Given the description of an element on the screen output the (x, y) to click on. 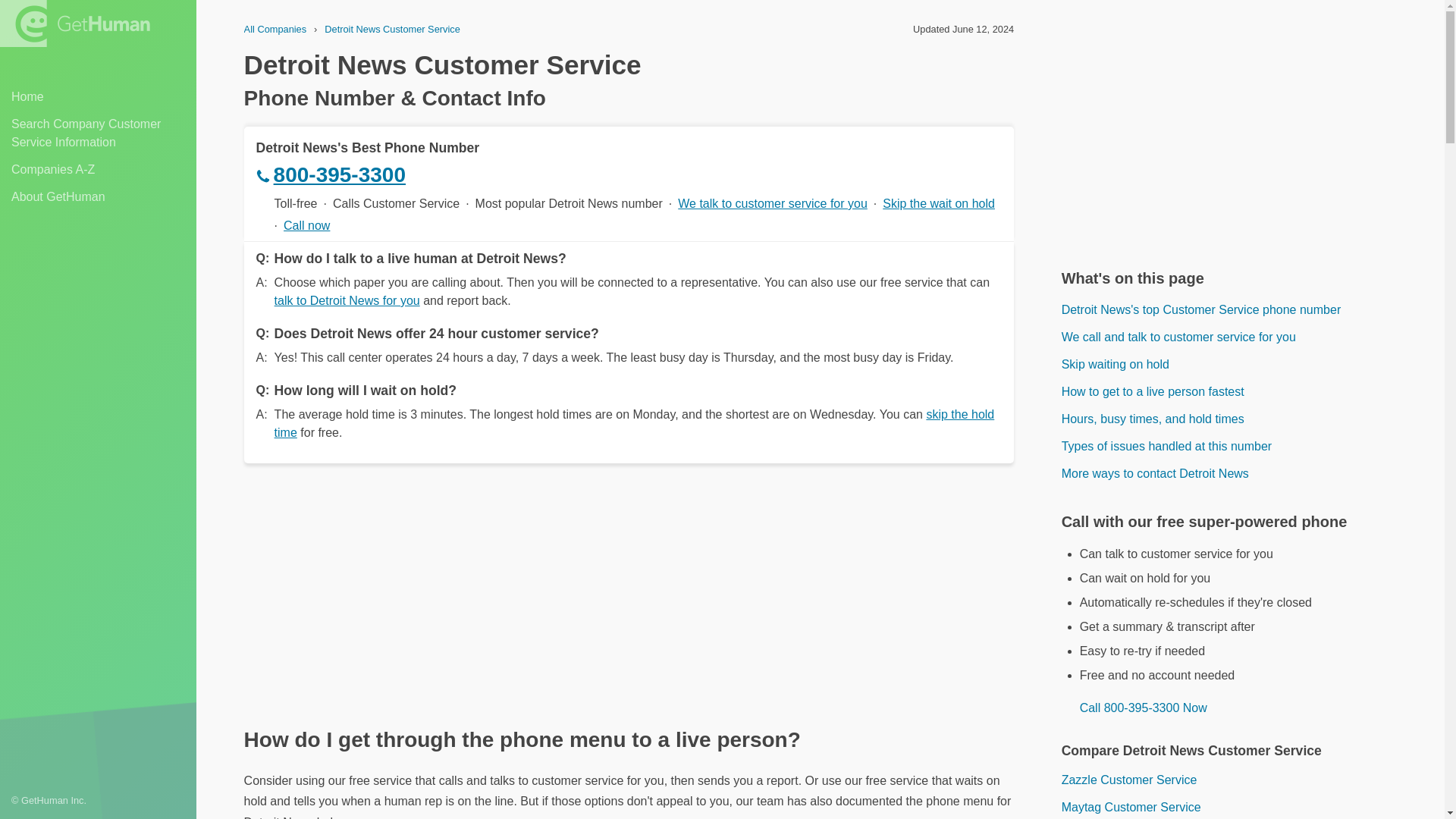
Search Company Customer Service Information (97, 133)
Advertisement (1238, 136)
Skip waiting on hold (1238, 364)
Detroit News Customer Service (392, 29)
GetHuman (74, 23)
We call and talk to customer service for you (1238, 337)
How to get to a live person fastest (1238, 392)
skip the hold time (634, 422)
All Companies (275, 29)
